Given the description of an element on the screen output the (x, y) to click on. 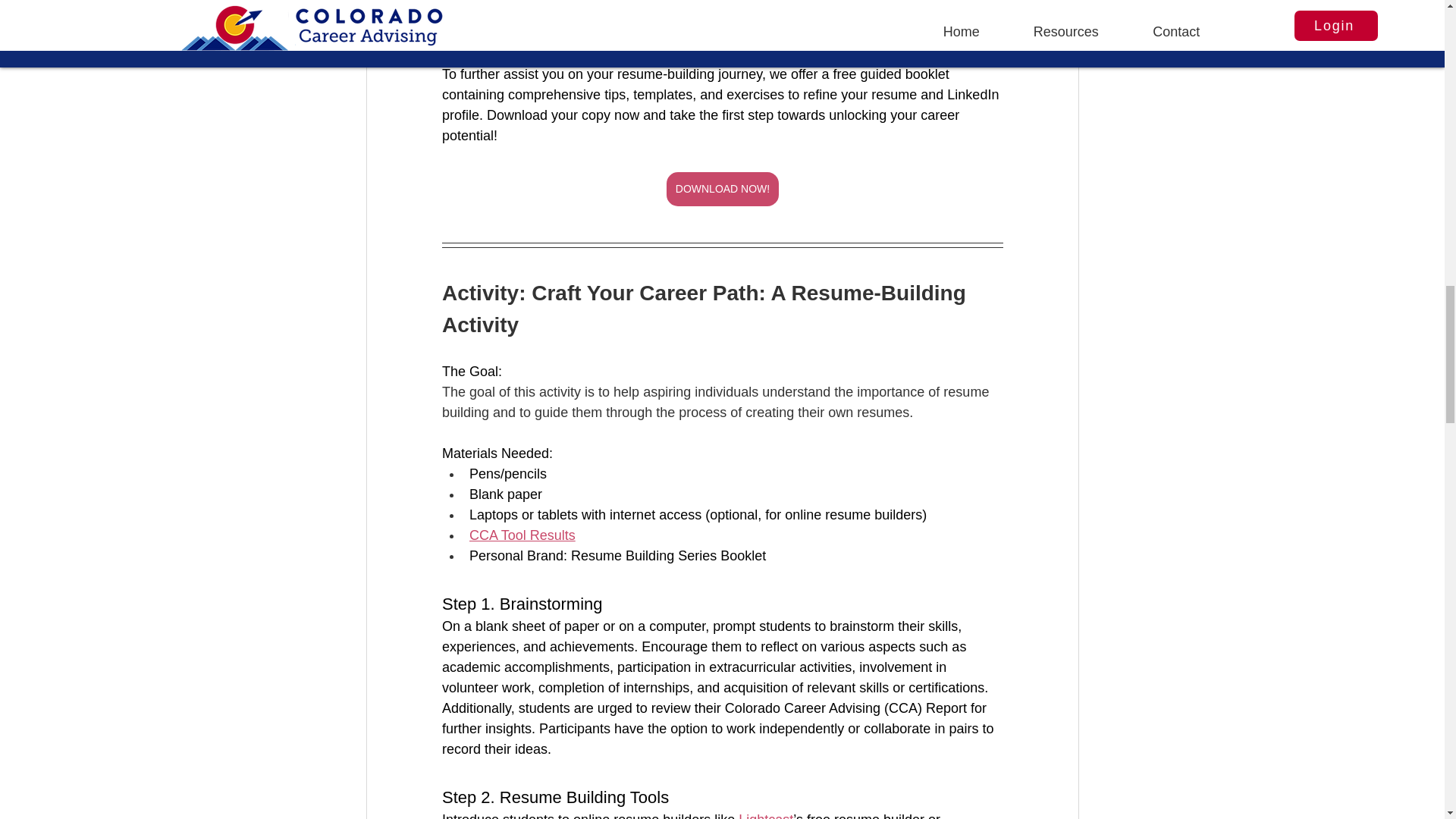
DOWNLOAD NOW! (721, 188)
READ MORE (721, 6)
CCA Tool Results (521, 534)
Lightcast (765, 815)
